Given the description of an element on the screen output the (x, y) to click on. 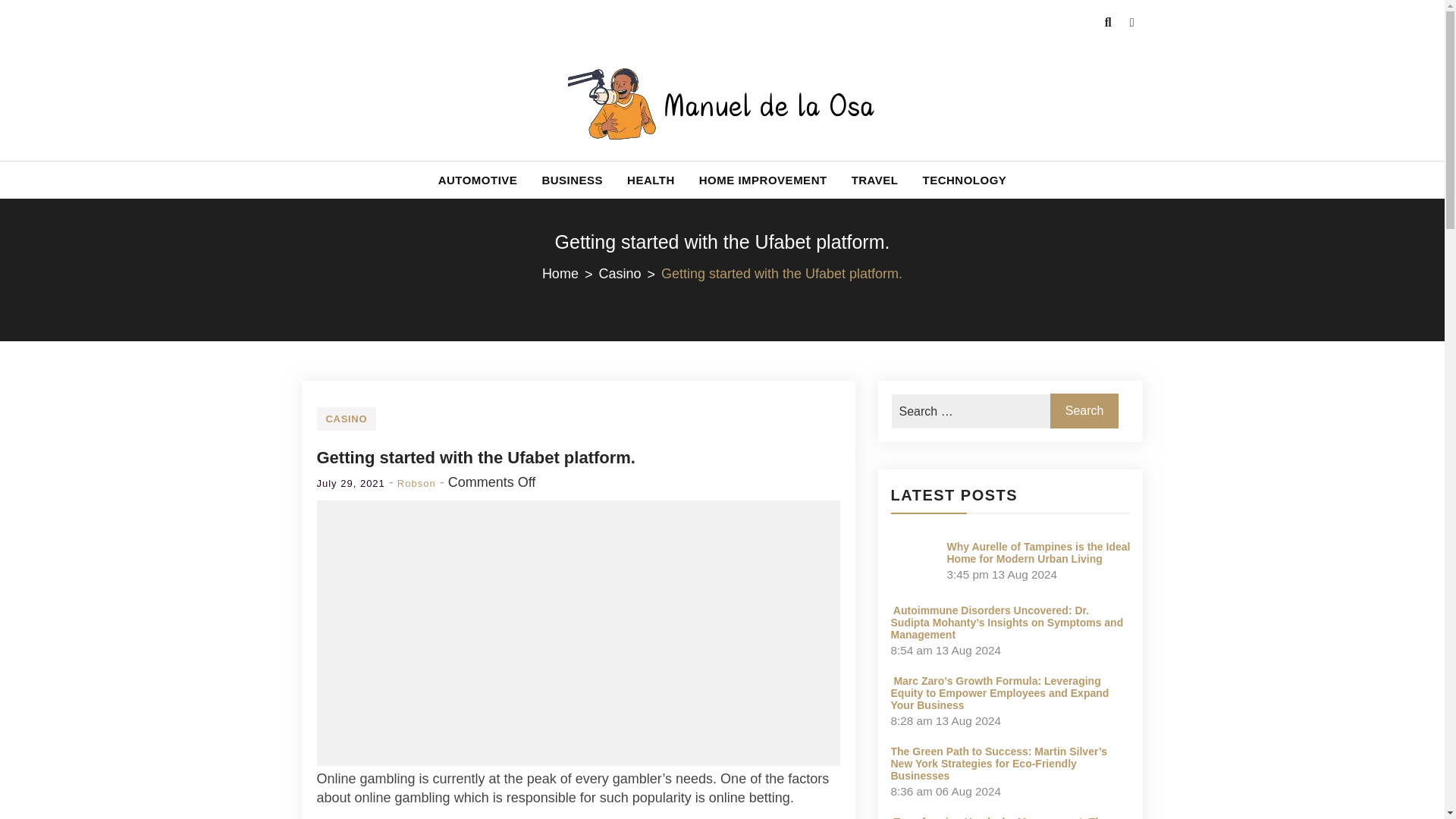
Search (1084, 410)
Robson (416, 482)
TRAVEL (875, 180)
AUTOMOTIVE (477, 180)
BUSINESS (571, 180)
Casino (629, 273)
Search (46, 31)
TECHNOLOGY (965, 180)
HEALTH (650, 180)
CASINO (347, 418)
